Given the description of an element on the screen output the (x, y) to click on. 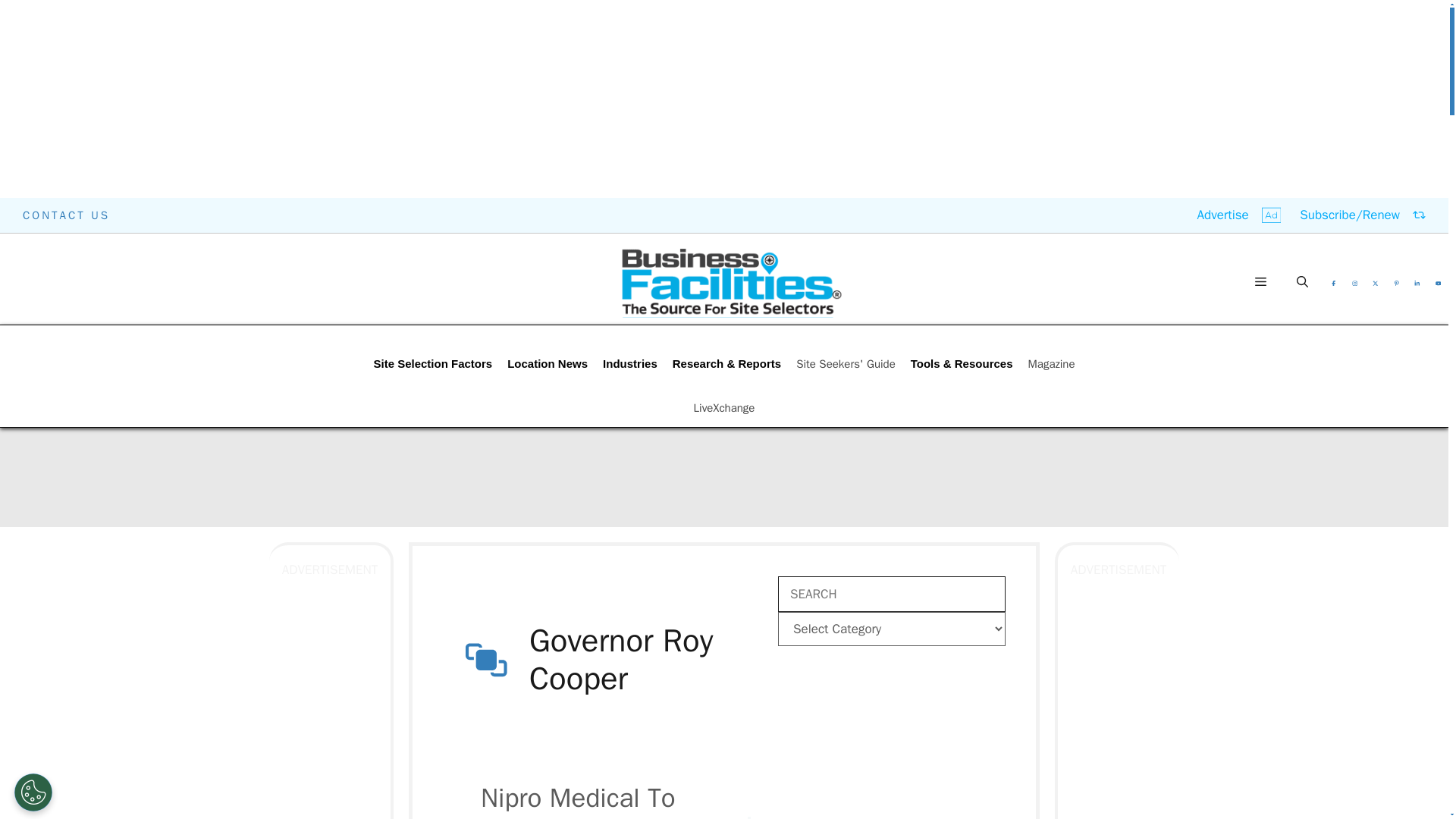
3rd party ad content (724, 477)
3rd party ad content (1079, 269)
3rd party ad content (724, 777)
Advertise (1238, 215)
Site Selection Factors (432, 364)
3rd party ad content (891, 736)
Business Facilities Magazine (731, 281)
Location News (547, 364)
3rd party ad content (382, 269)
